Given the description of an element on the screen output the (x, y) to click on. 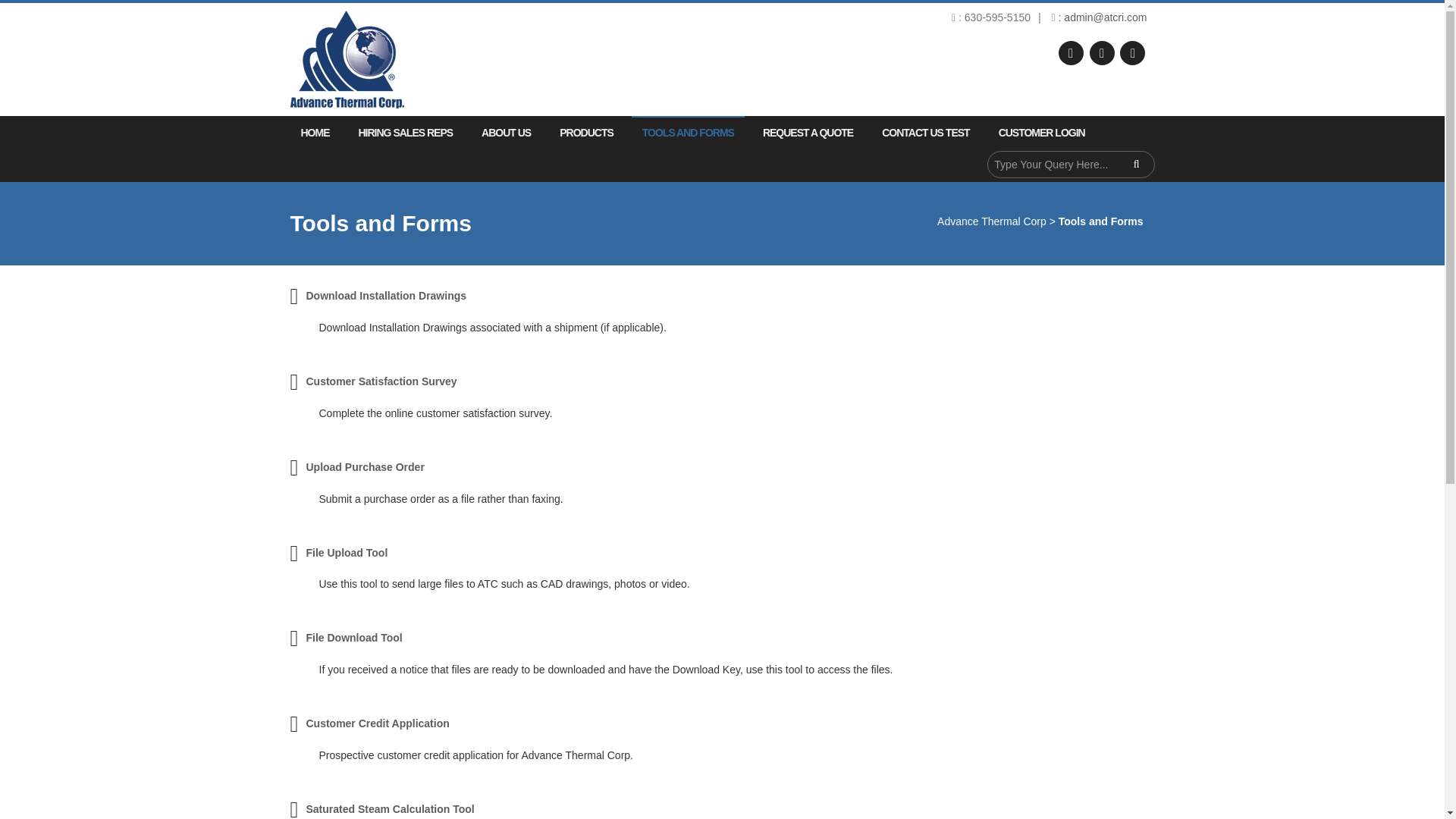
Tools and Forms (687, 132)
ABOUT US (505, 132)
Customer Satisfaction Survey (381, 381)
Request a Quote (807, 132)
Saturated Steam Calculation Tool (389, 808)
About Us (505, 132)
Products (586, 132)
Hiring Sales Reps (405, 132)
HIRING SALES REPS (405, 132)
Upload Purchase Order (364, 467)
CUSTOMER LOGIN (1036, 132)
HOME (314, 132)
File Upload Tool (346, 552)
CONTACT US TEST (924, 132)
Home (314, 132)
